Given the description of an element on the screen output the (x, y) to click on. 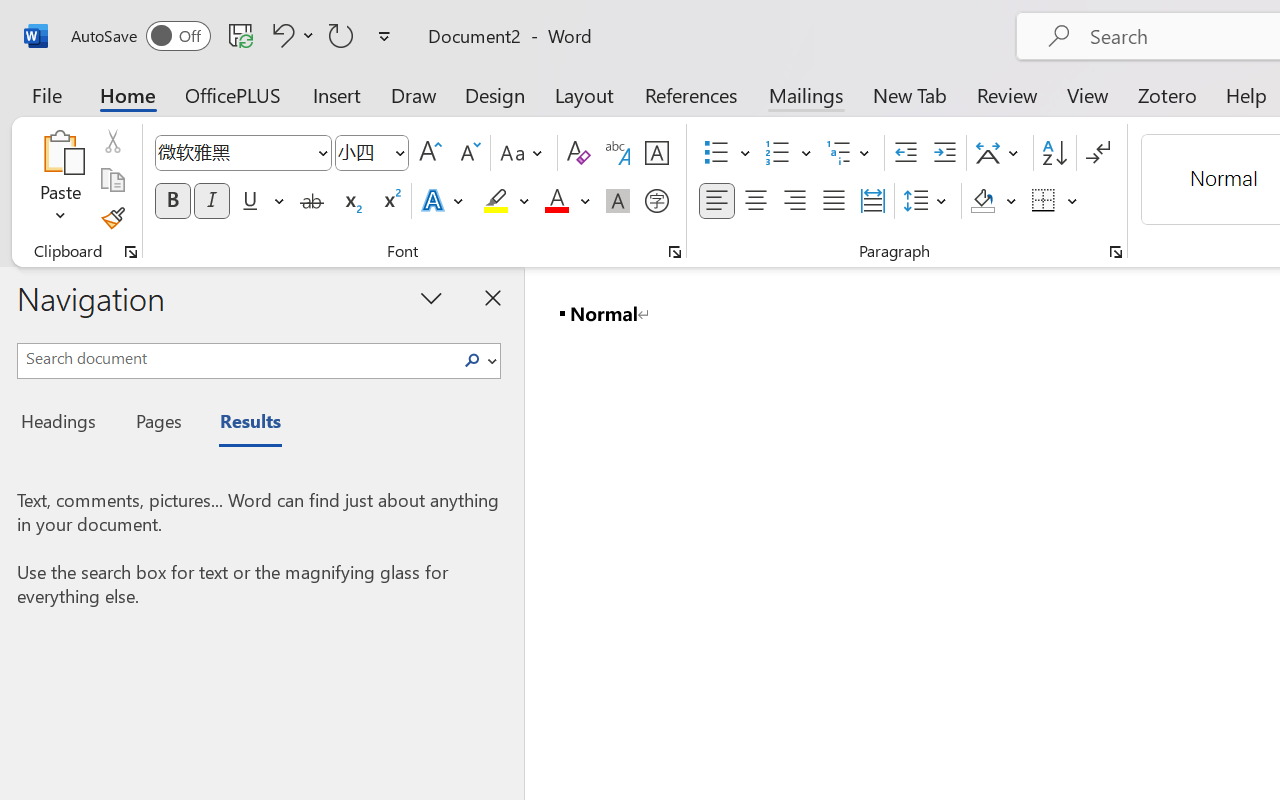
Search document (236, 358)
Font Size (372, 153)
New Tab (909, 94)
Text Effects and Typography (444, 201)
Bold (172, 201)
Font Color Red (556, 201)
Numbering (788, 153)
Center (756, 201)
Search (478, 360)
Font... (675, 252)
Copy (112, 179)
Office Clipboard... (131, 252)
Character Border (656, 153)
Italic (212, 201)
Task Pane Options (431, 297)
